Given the description of an element on the screen output the (x, y) to click on. 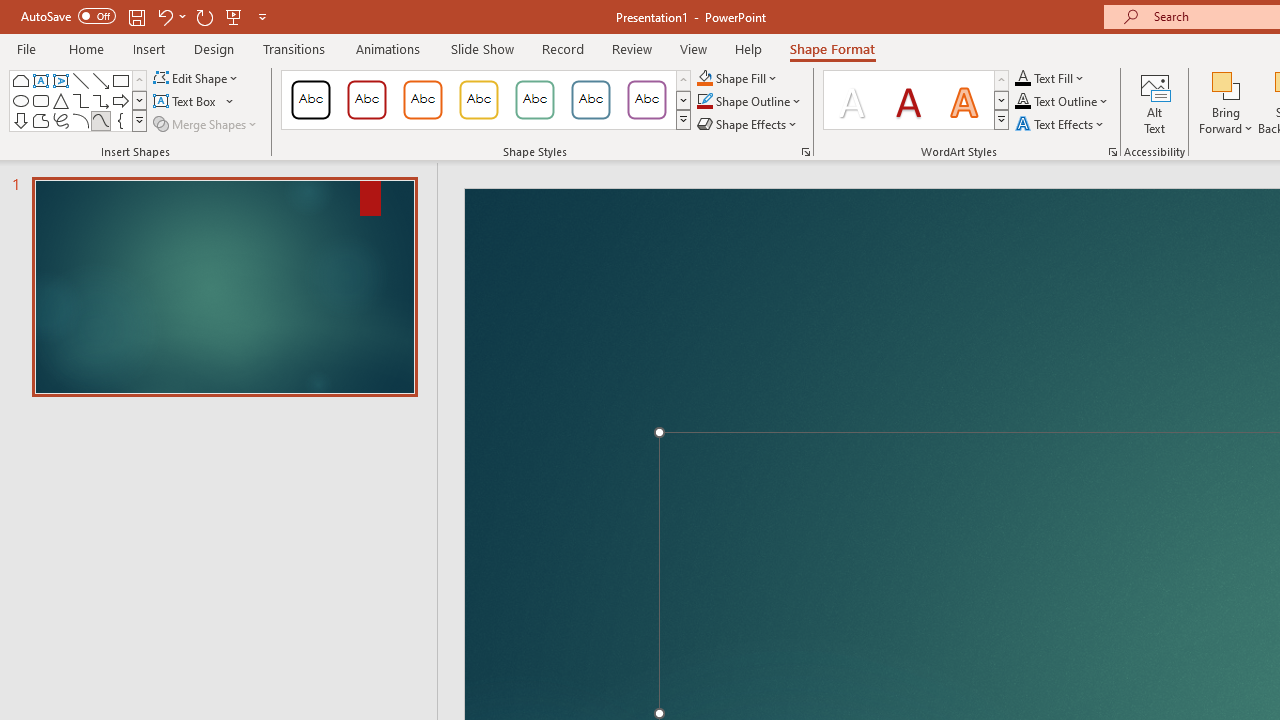
Oval (20, 100)
Shapes (139, 120)
Format Object... (805, 151)
Connector: Elbow (80, 100)
Text Fill RGB(0, 0, 0) (1023, 78)
Home (86, 48)
Colored Outline - Orange, Accent 2 (422, 100)
AutoSave (68, 16)
Freeform: Shape (40, 120)
Class: NetUIImage (1002, 119)
Undo (170, 15)
Colored Outline - Green, Accent 4 (534, 100)
Text Box (40, 80)
Line Arrow (100, 80)
AutomationID: ShapesInsertGallery (78, 100)
